Given the description of an element on the screen output the (x, y) to click on. 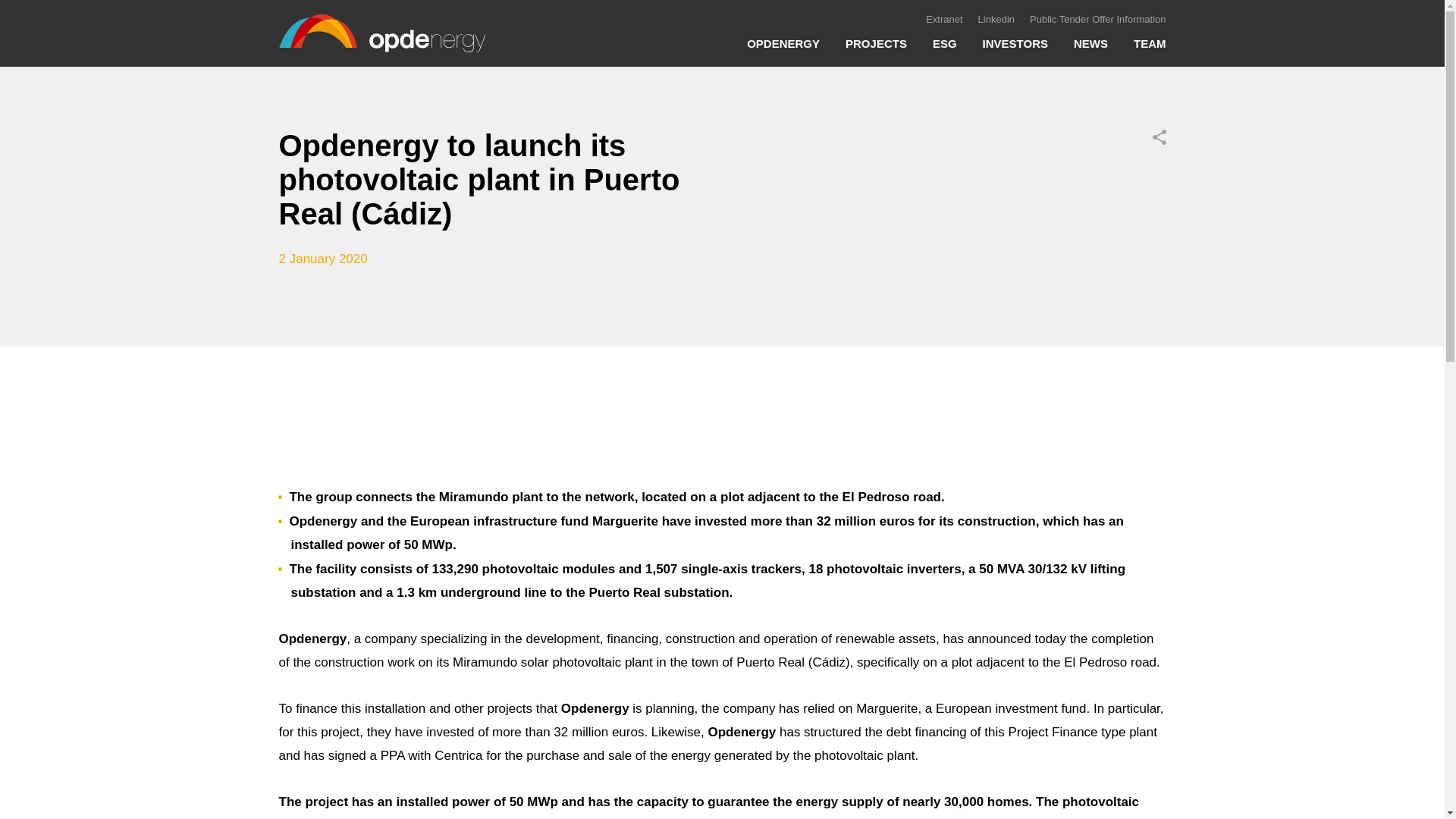
INVESTORS (1015, 49)
TEAM (1150, 49)
PROJECTS (876, 49)
About us (777, 9)
Linkedin (996, 19)
OPDENERGY (782, 49)
Public Tender Offer Information (966, 34)
Public Tender Offer Information (1097, 19)
Commitment and sustainability (882, 35)
Our work (777, 35)
